Given the description of an element on the screen output the (x, y) to click on. 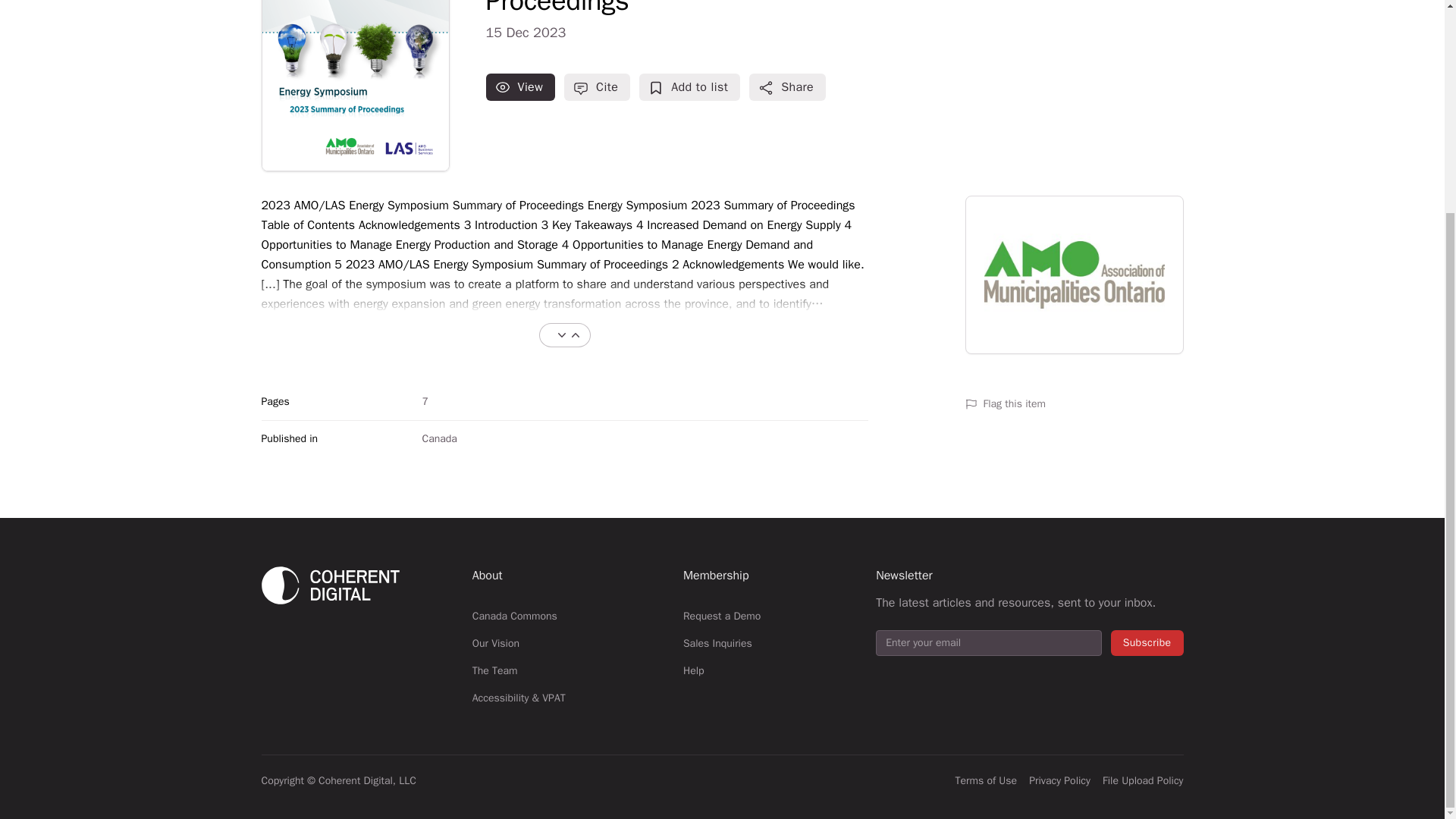
Share (787, 86)
Cite (597, 86)
Flag this item (1072, 403)
View (521, 86)
Add to list (689, 86)
